Given the description of an element on the screen output the (x, y) to click on. 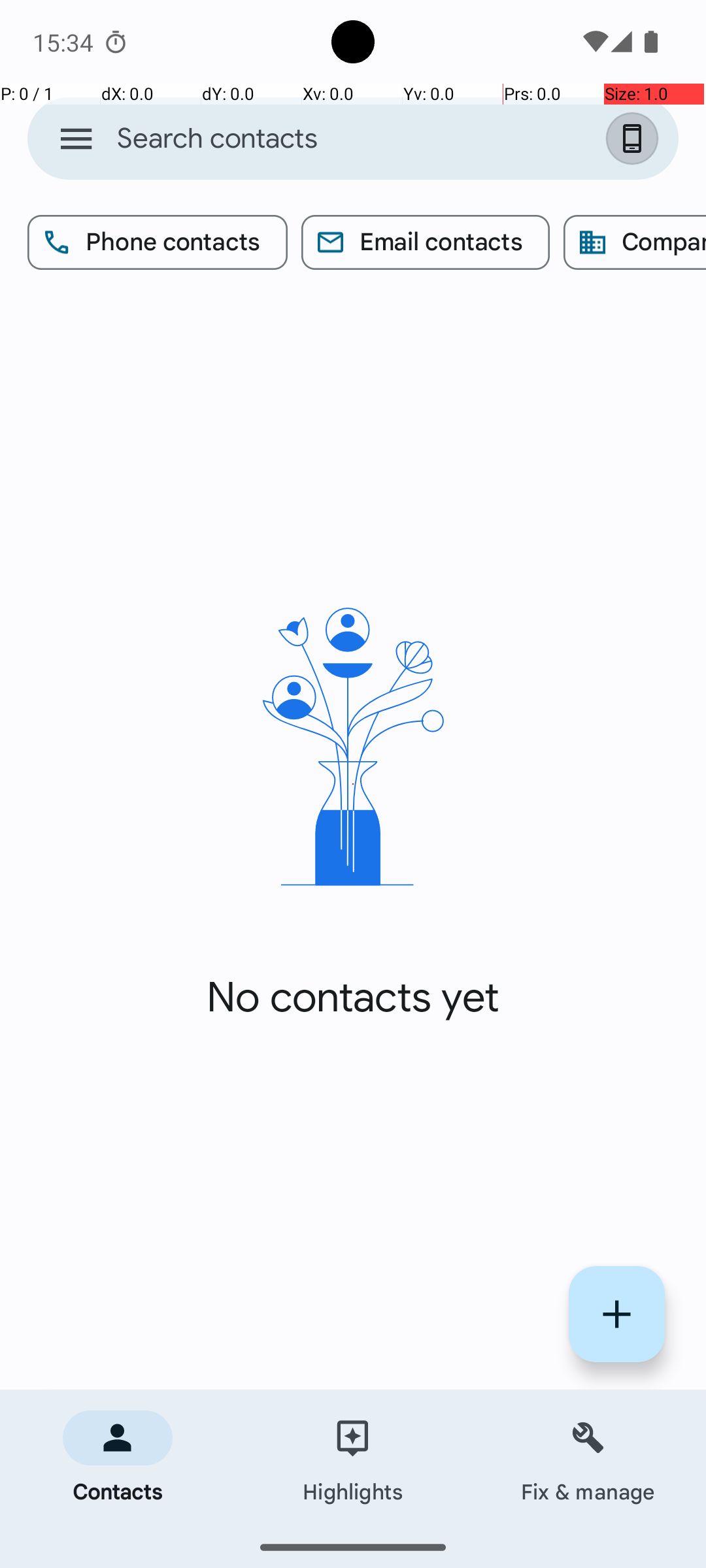
Wifi signal full. Element type: android.widget.FrameLayout (593, 41)
